Given the description of an element on the screen output the (x, y) to click on. 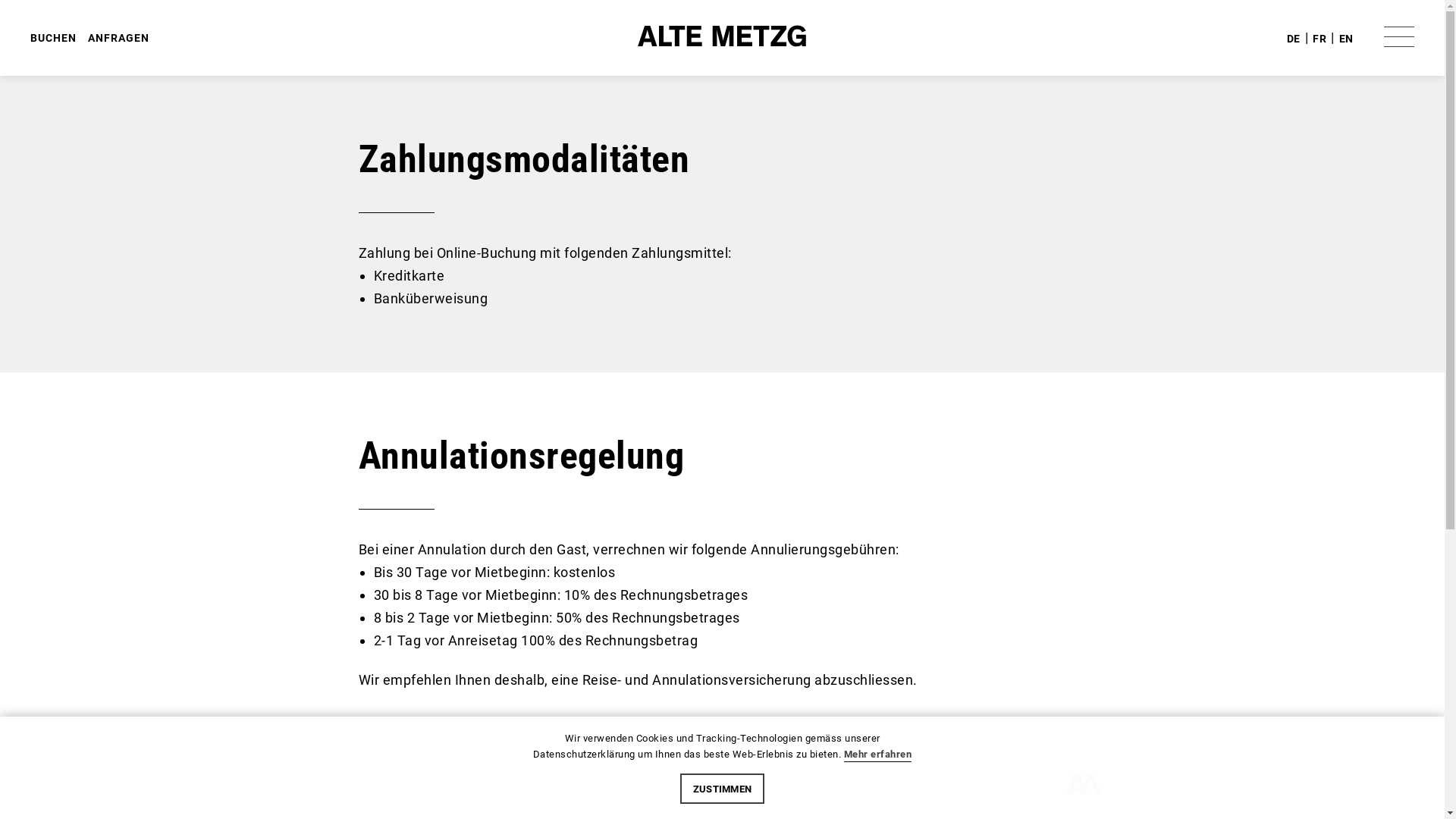
ANFRAGEN Element type: text (118, 37)
Mehr erfahren Element type: text (878, 754)
FR Element type: text (1319, 37)
ZUSTIMMEN Element type: text (722, 788)
EN Element type: text (1346, 37)
BUCHEN Element type: text (53, 37)
